Given the description of an element on the screen output the (x, y) to click on. 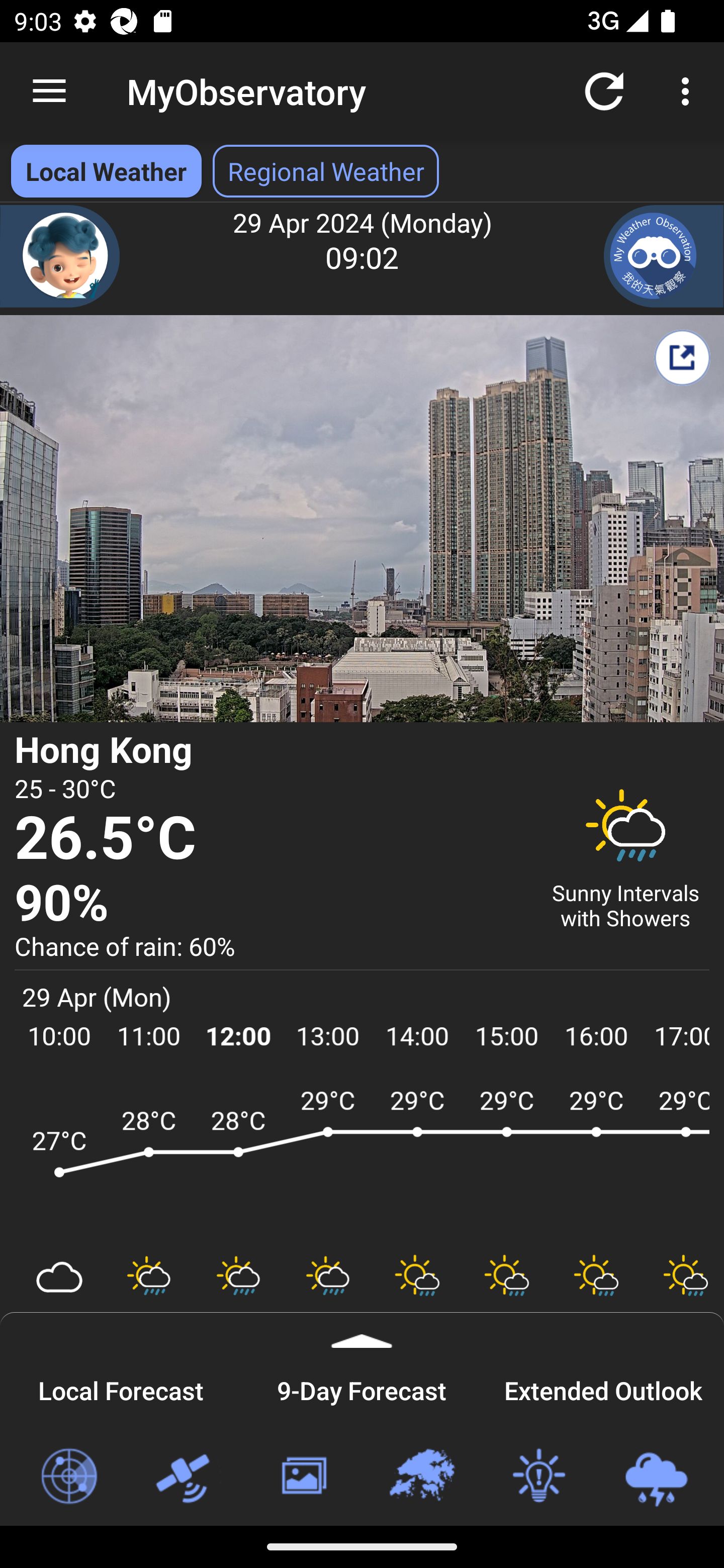
Navigate up (49, 91)
Refresh (604, 90)
More options (688, 90)
Local Weather Local Weather selected (105, 170)
Regional Weather Select Regional Weather (325, 170)
Chatbot (60, 256)
My Weather Observation (663, 256)
Share My Weather Report (681, 357)
26.5°C Temperature
26.5 degree Celsius (270, 839)
90% Relative Humidity
90 percent (270, 903)
ARWF (361, 1160)
Expand (362, 1330)
Local Forecast (120, 1387)
Extended Outlook (603, 1387)
Radar Images (68, 1476)
Satellite Images (185, 1476)
Weather Photos (302, 1476)
Regional Weather (420, 1476)
Weather Tips (537, 1476)
Loc-based Rain & Lightning Forecast (655, 1476)
